Given the description of an element on the screen output the (x, y) to click on. 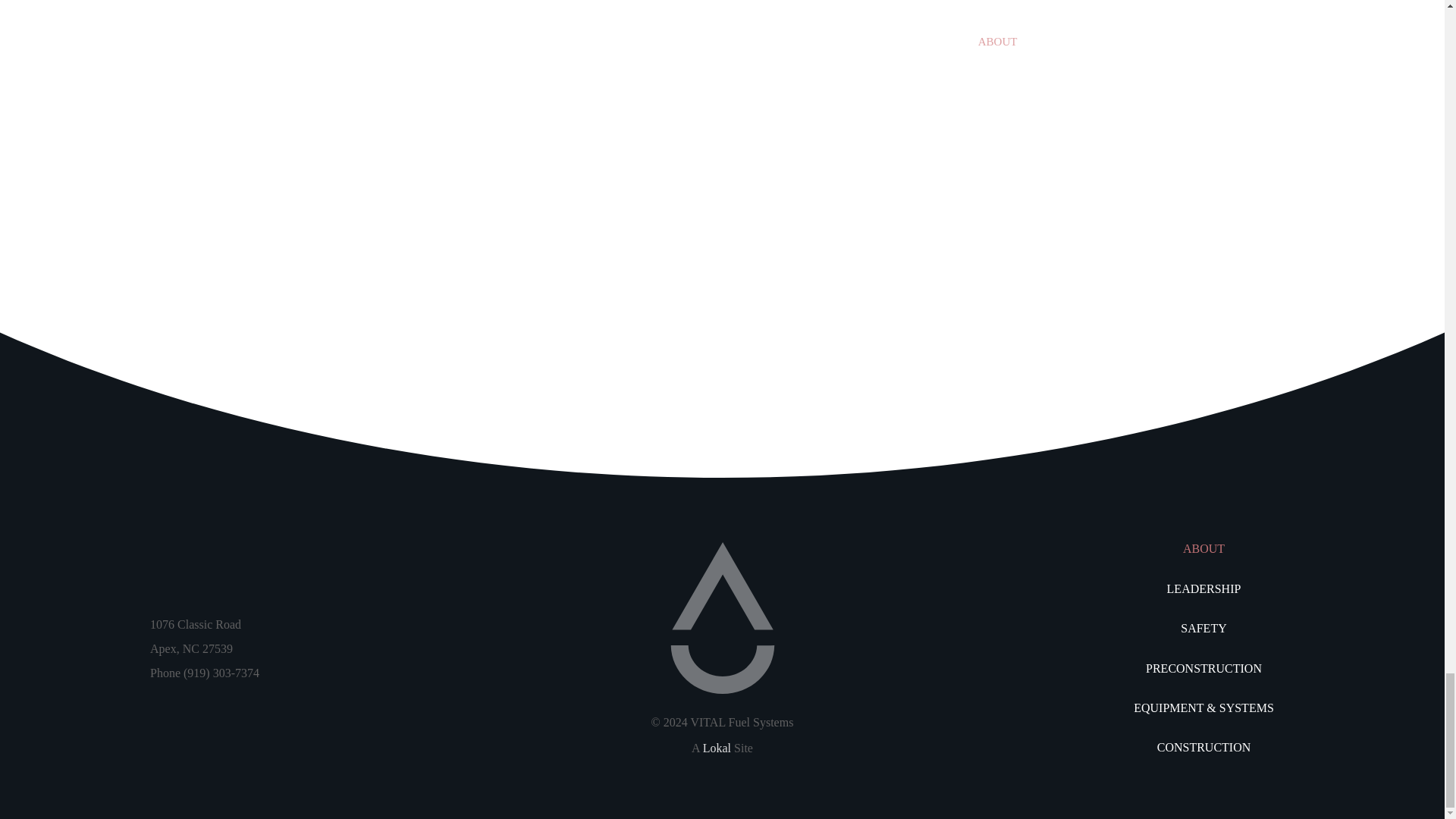
SAFETY (1202, 628)
Lokal (716, 748)
PRECONSTRUCTION (1202, 668)
CONSTRUCTION (1202, 747)
LEADERSHIP (1202, 589)
ABOUT (1202, 548)
